Given the description of an element on the screen output the (x, y) to click on. 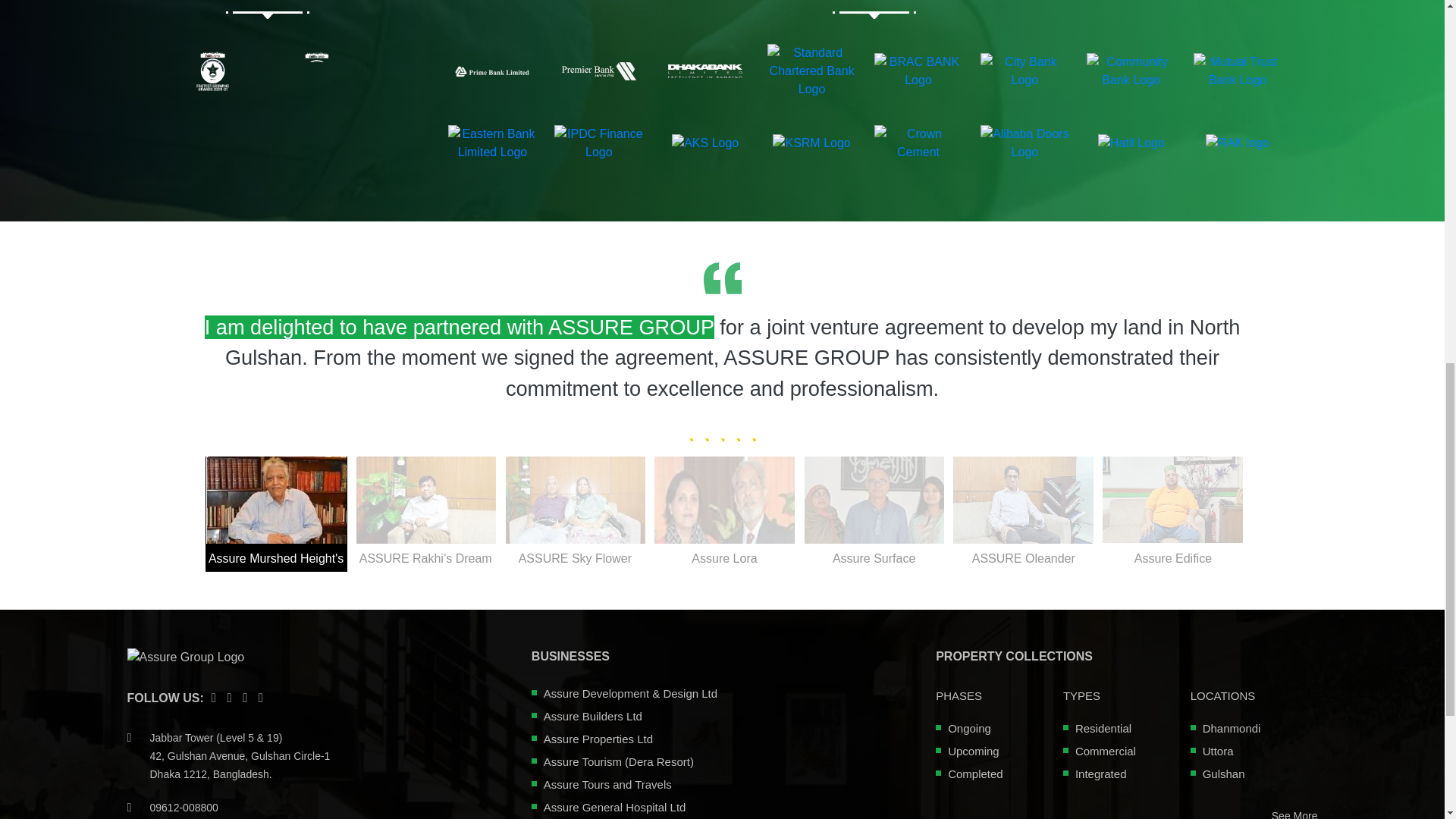
BRAC Bank Limited (917, 71)
Community Bank Bangladesh Limited (1130, 71)
Standard Chartered Bank (811, 71)
City Bank Logo (1023, 71)
IPDC Finance (598, 143)
Alibaba Doors (1023, 143)
KSRM (811, 143)
Fastest-Growing Brands 2020 - 21 (212, 70)
Fastest Growing Business Leader of Bangladesh 2020-21 (315, 70)
Eastern Bank Limited (492, 143)
